Given the description of an element on the screen output the (x, y) to click on. 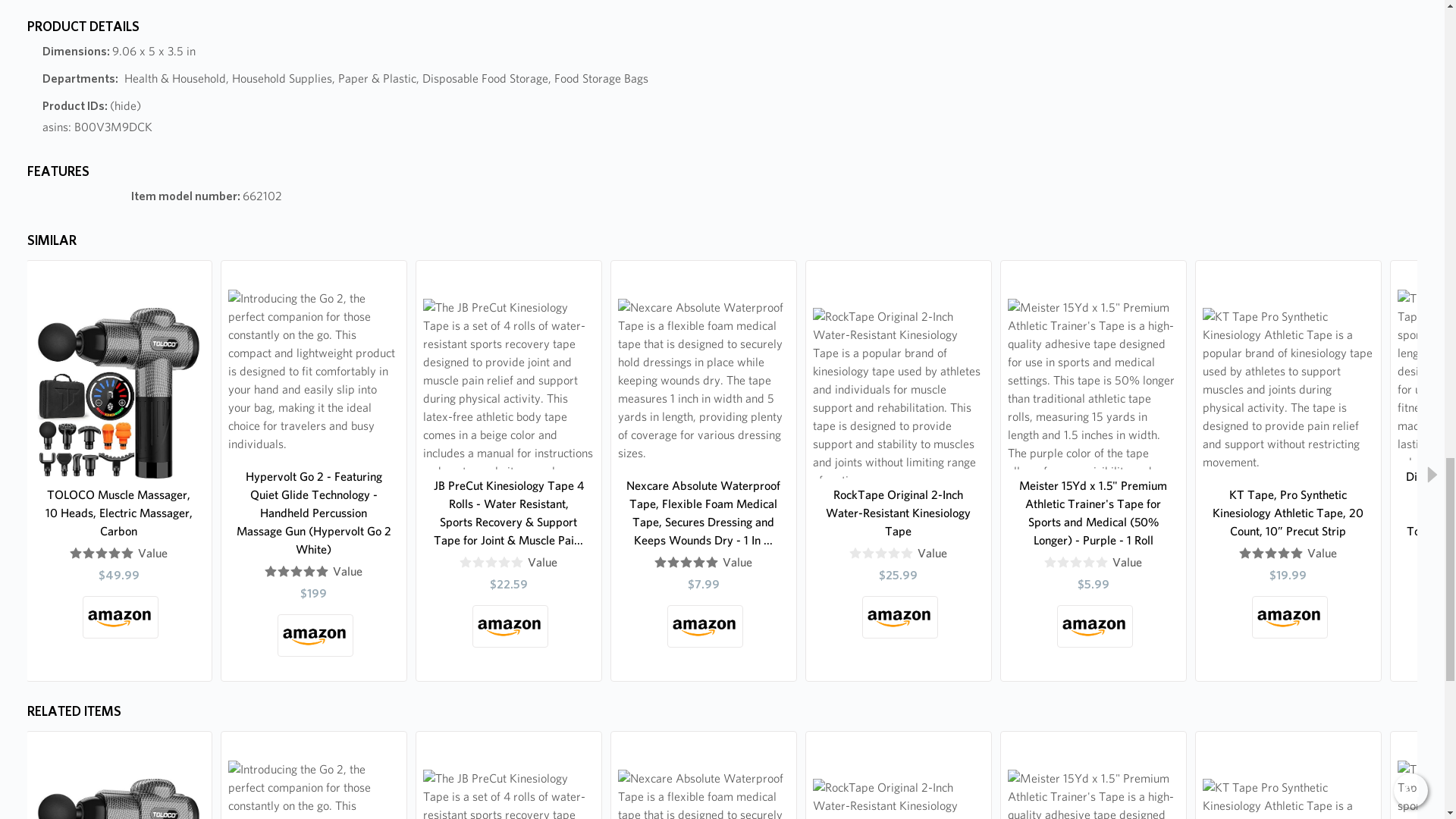
4.5 (686, 562)
0 (881, 553)
RockTape Original 2-Inch Water-Resistant Kinesiology Tape (898, 512)
4.5 (296, 571)
0 (492, 562)
